Given the description of an element on the screen output the (x, y) to click on. 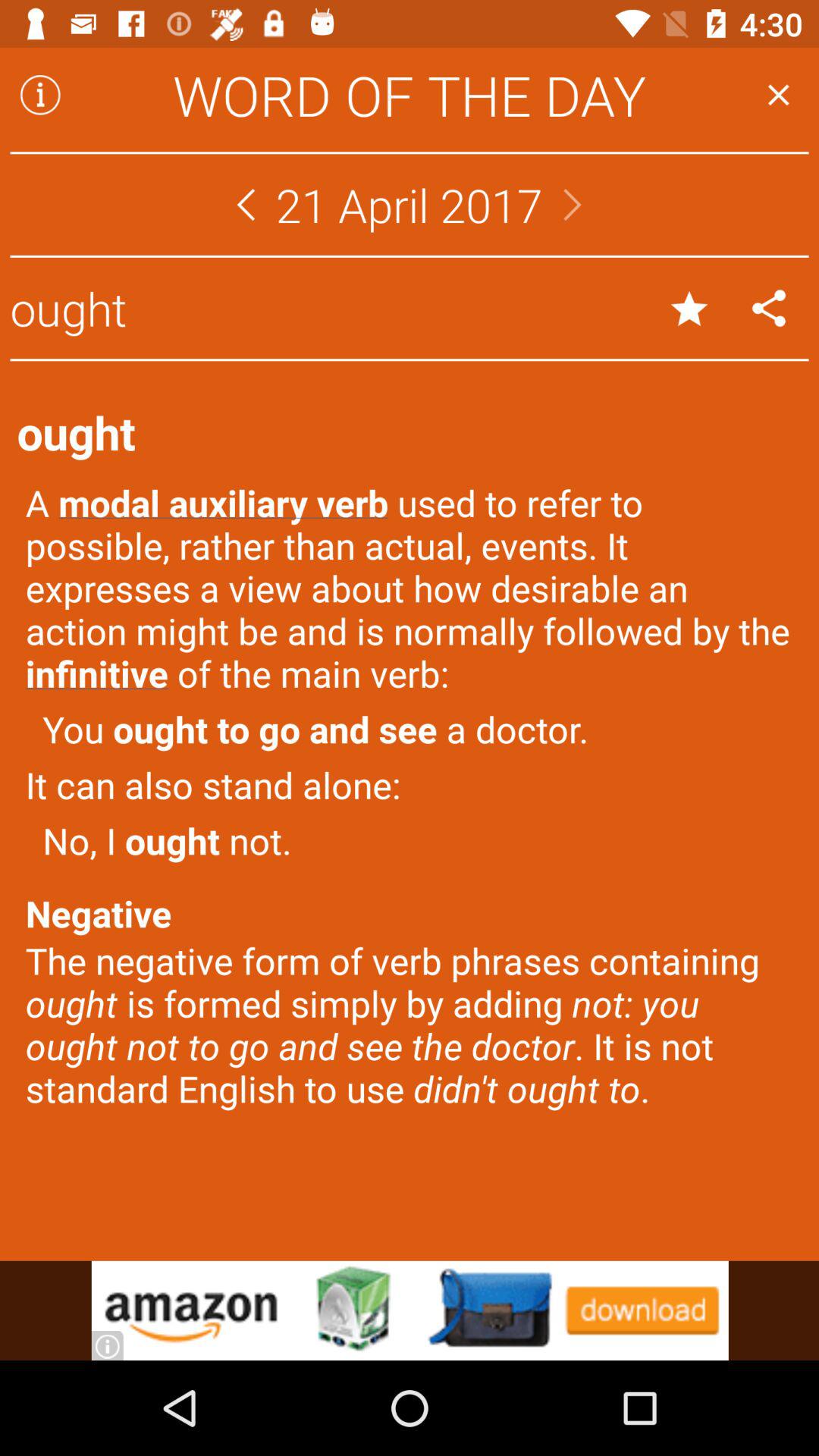
show more information (40, 94)
